Given the description of an element on the screen output the (x, y) to click on. 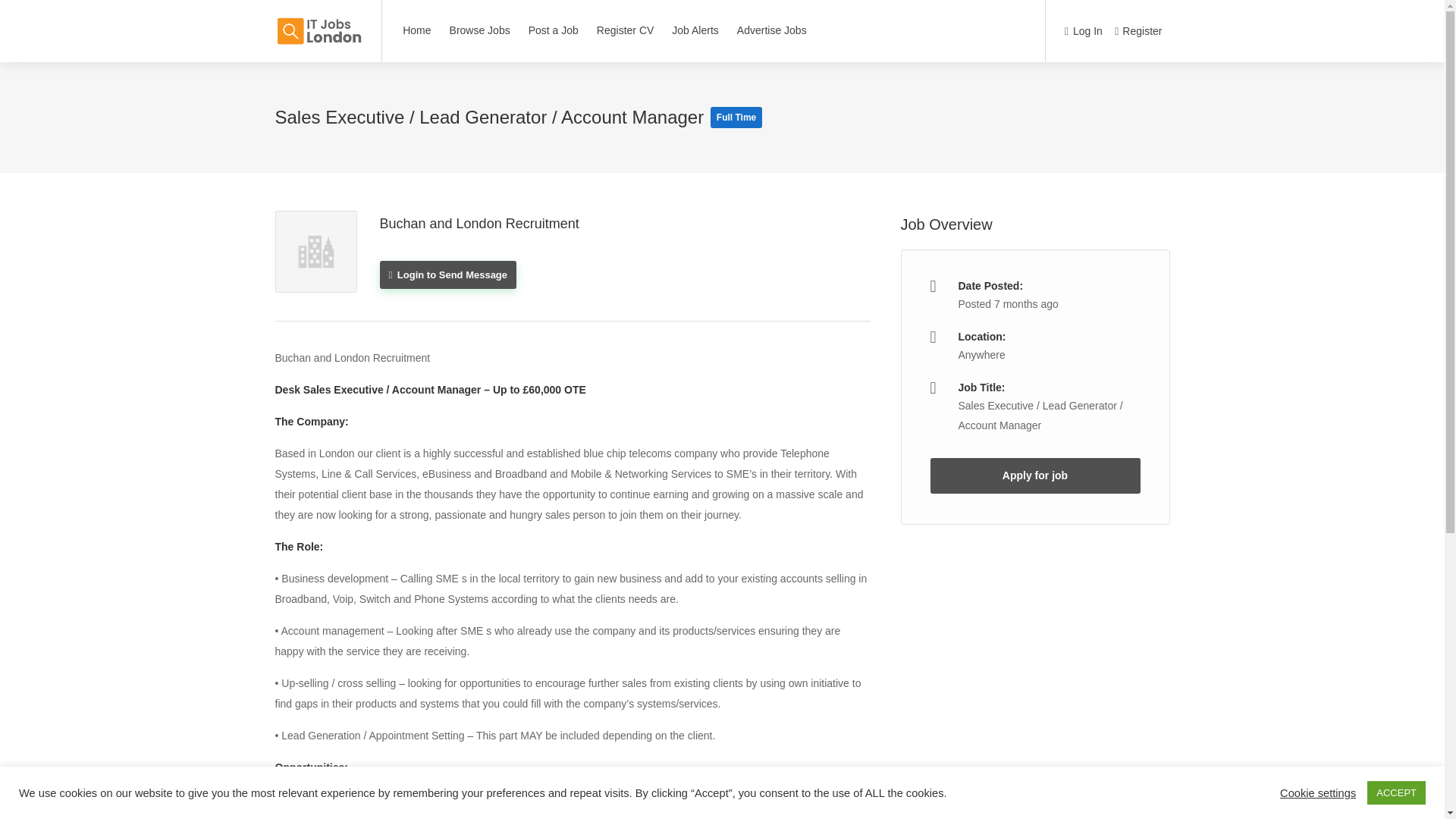
Register CV (625, 30)
Post a Job (552, 30)
Login to Send Message (447, 275)
Log In (1083, 31)
Home (416, 30)
ACCEPT (1396, 792)
Job Alerts (694, 30)
Apply for job (1035, 475)
IT Jobs London (318, 22)
Advertise Jobs (772, 30)
Register (1138, 31)
Cookie settings (1317, 792)
Browse Jobs (479, 30)
Buchan and London Recruitment (478, 223)
